Given the description of an element on the screen output the (x, y) to click on. 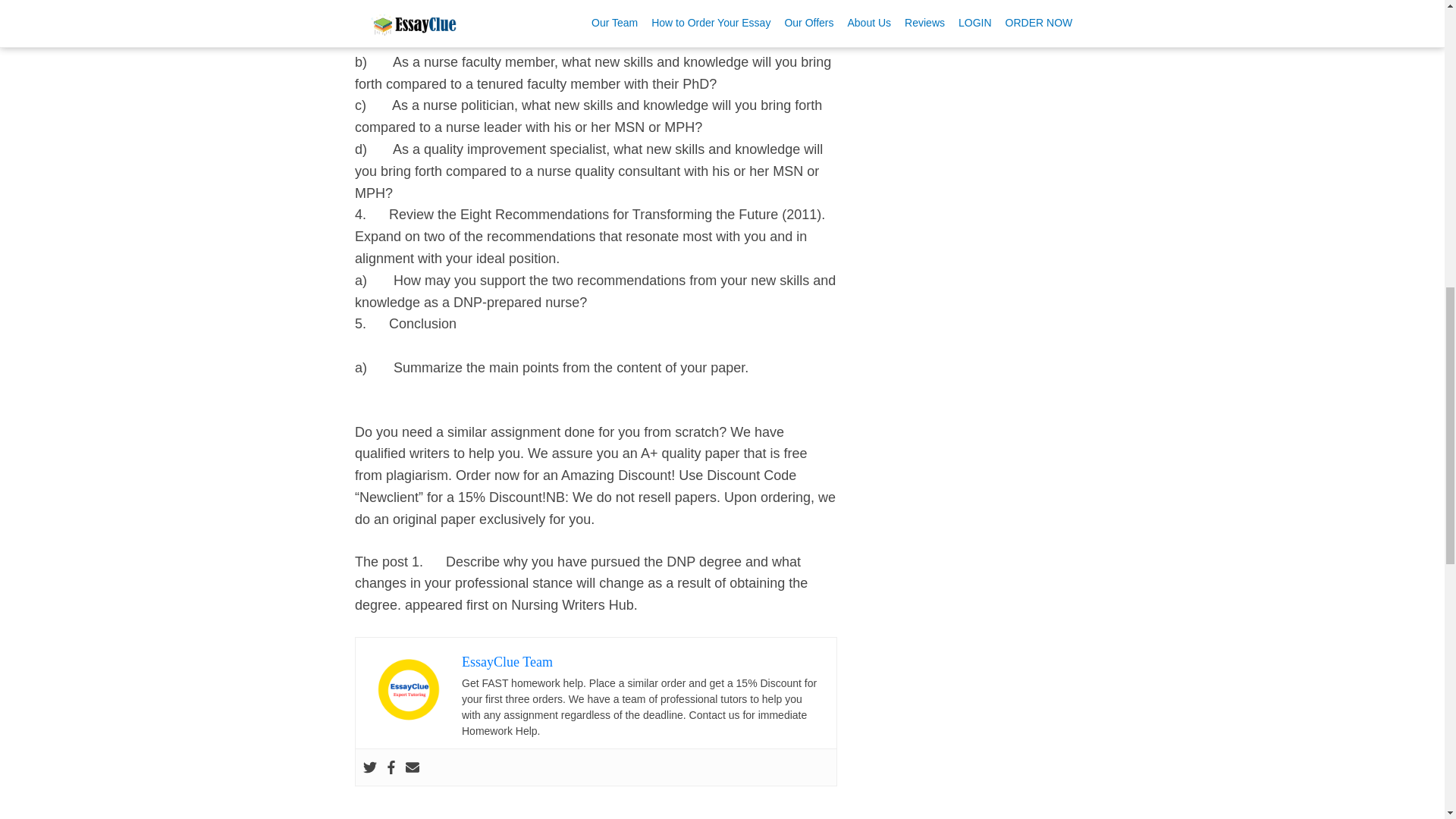
User email (412, 766)
Twitter (369, 766)
Facebook (390, 766)
EssayClue Team (507, 661)
